Given the description of an element on the screen output the (x, y) to click on. 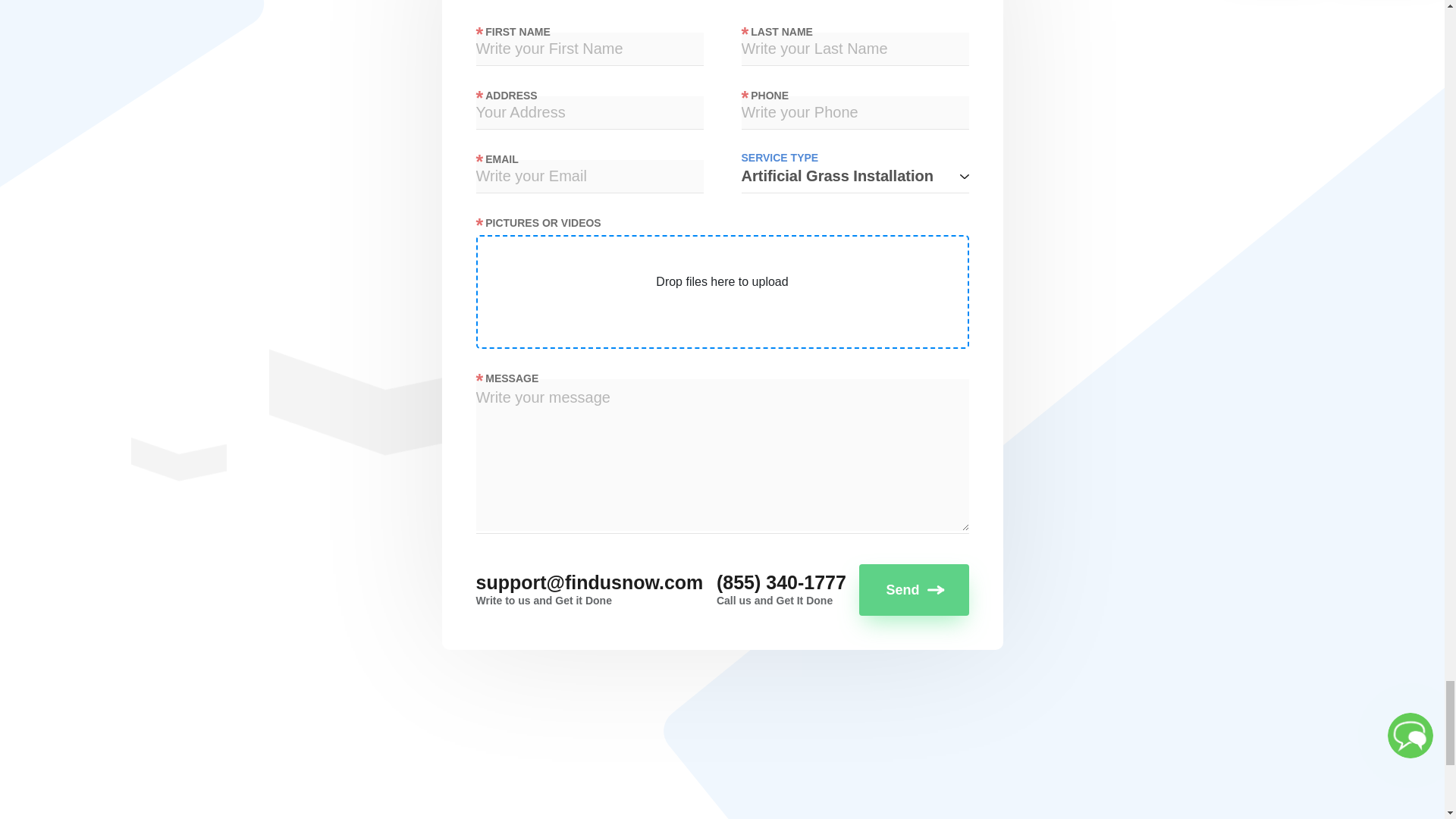
Artificial Grass Installation (855, 176)
Drop files here to upload (721, 282)
Send (913, 589)
